Given the description of an element on the screen output the (x, y) to click on. 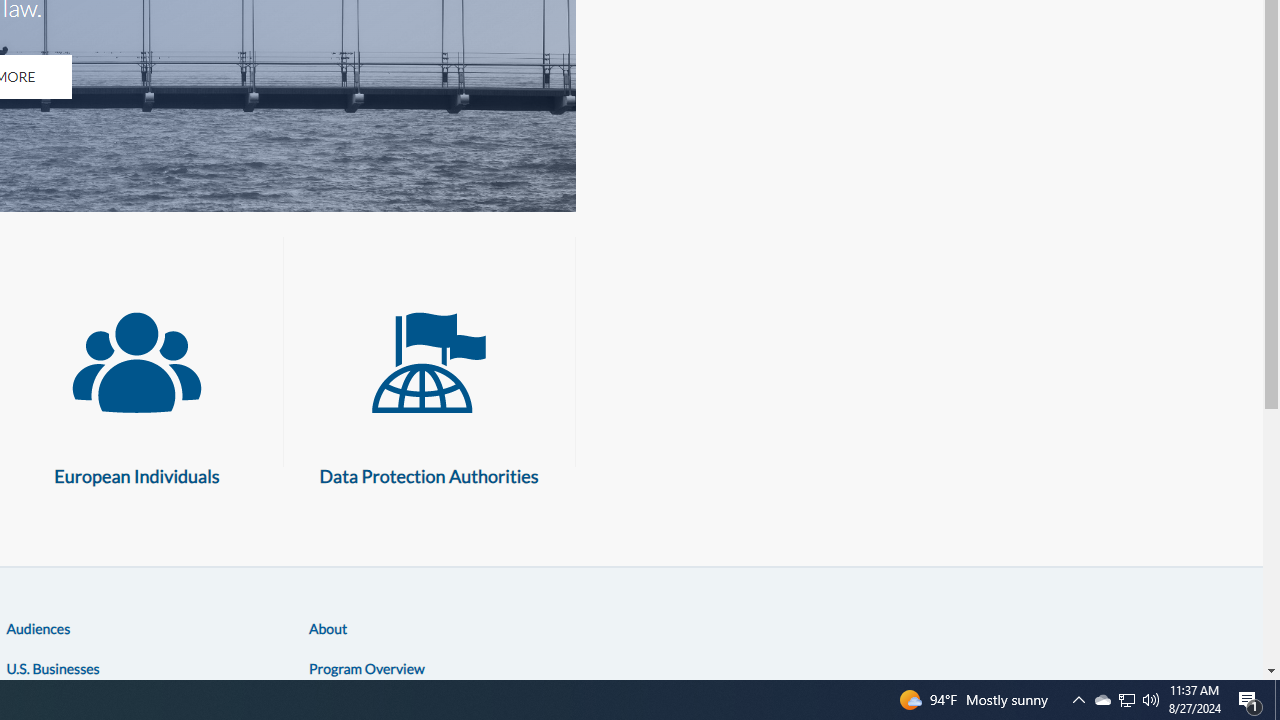
European Individuals European Individuals (136, 389)
Program Overview (366, 667)
Data Protection Authorities Data Protection Authorities (429, 389)
Audiences (38, 628)
U.S. Businesses (52, 667)
European Individuals (136, 363)
Data Protection Authorities (429, 363)
